Given the description of an element on the screen output the (x, y) to click on. 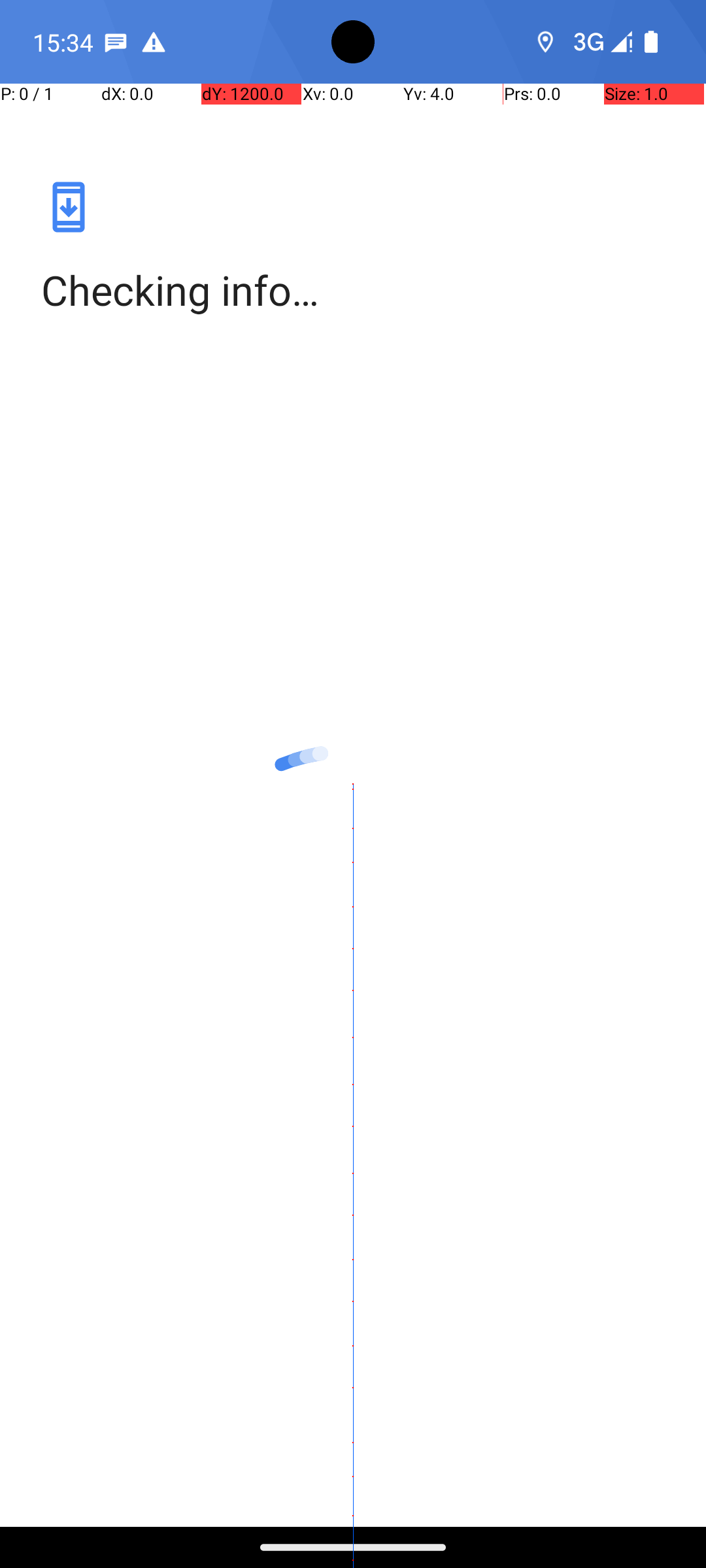
Checking info… Element type: android.widget.TextView (352, 289)
